Given the description of an element on the screen output the (x, y) to click on. 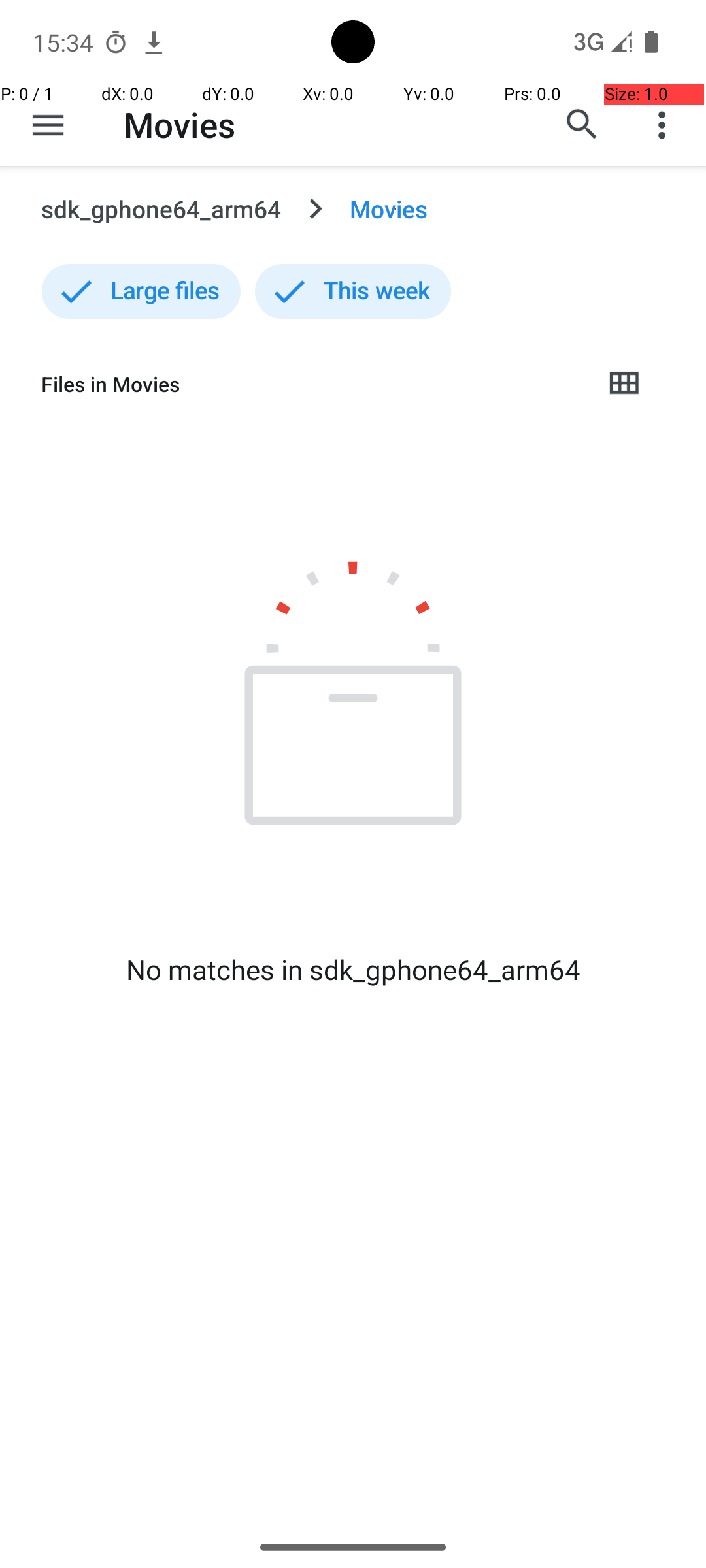
Files in Movies Element type: android.widget.TextView (311, 383)
No matches in sdk_gphone64_arm64 Element type: android.widget.TextView (353, 968)
